Given the description of an element on the screen output the (x, y) to click on. 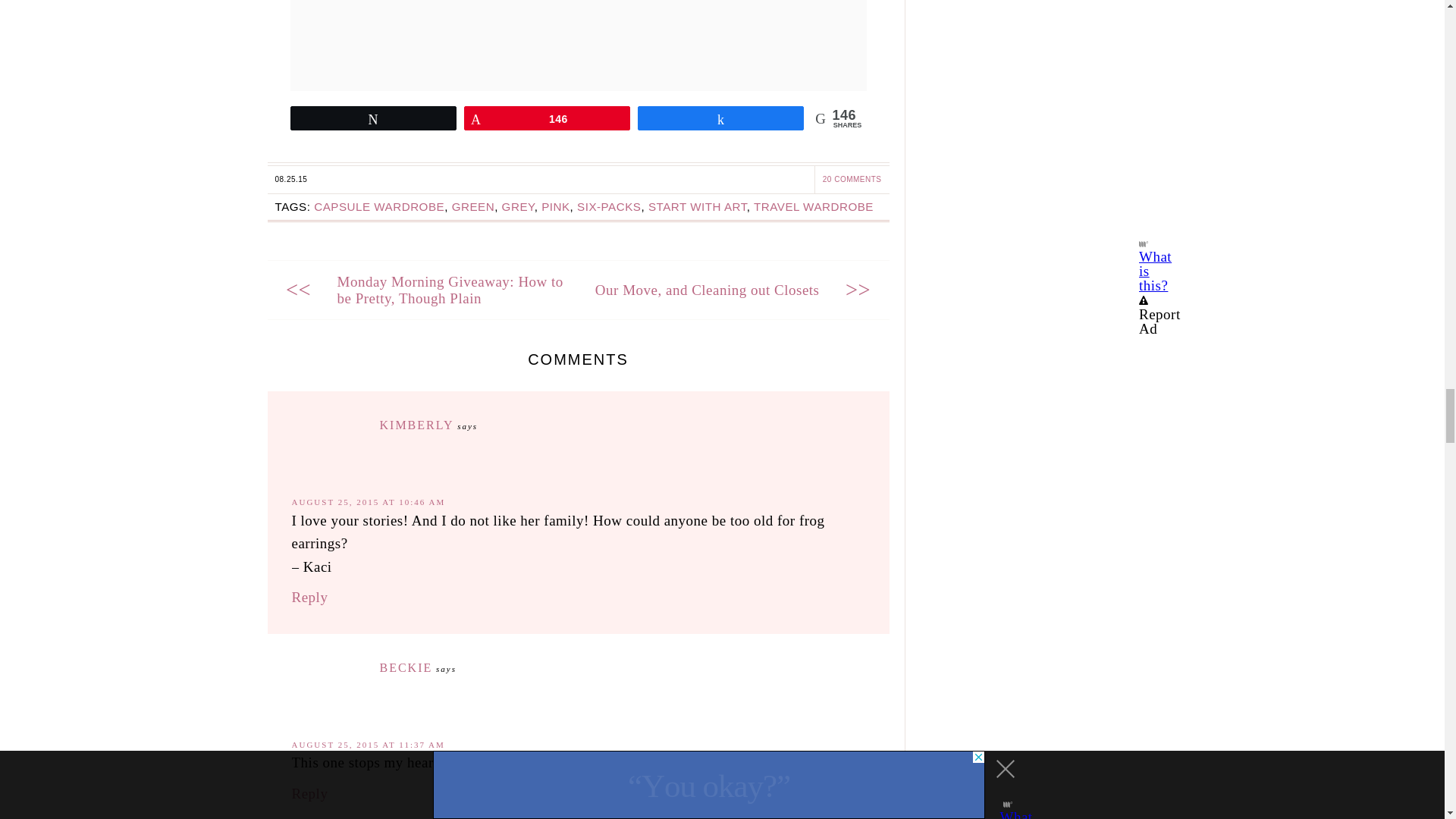
GREEN (473, 205)
146 (546, 118)
Reply (309, 596)
CAPSULE WARDROBE (379, 205)
AUGUST 25, 2015 AT 11:37 AM (367, 744)
20 COMMENTS (852, 179)
Monday Morning Giveaway: How to be Pretty, Though Plain (449, 289)
PINK (555, 205)
TRAVEL WARDROBE (813, 205)
AUGUST 25, 2015 AT 10:46 AM (368, 501)
Reply (309, 793)
KIMBERLY (415, 424)
SIX-PACKS (608, 205)
START WITH ART (696, 205)
GREY (518, 205)
